Given the description of an element on the screen output the (x, y) to click on. 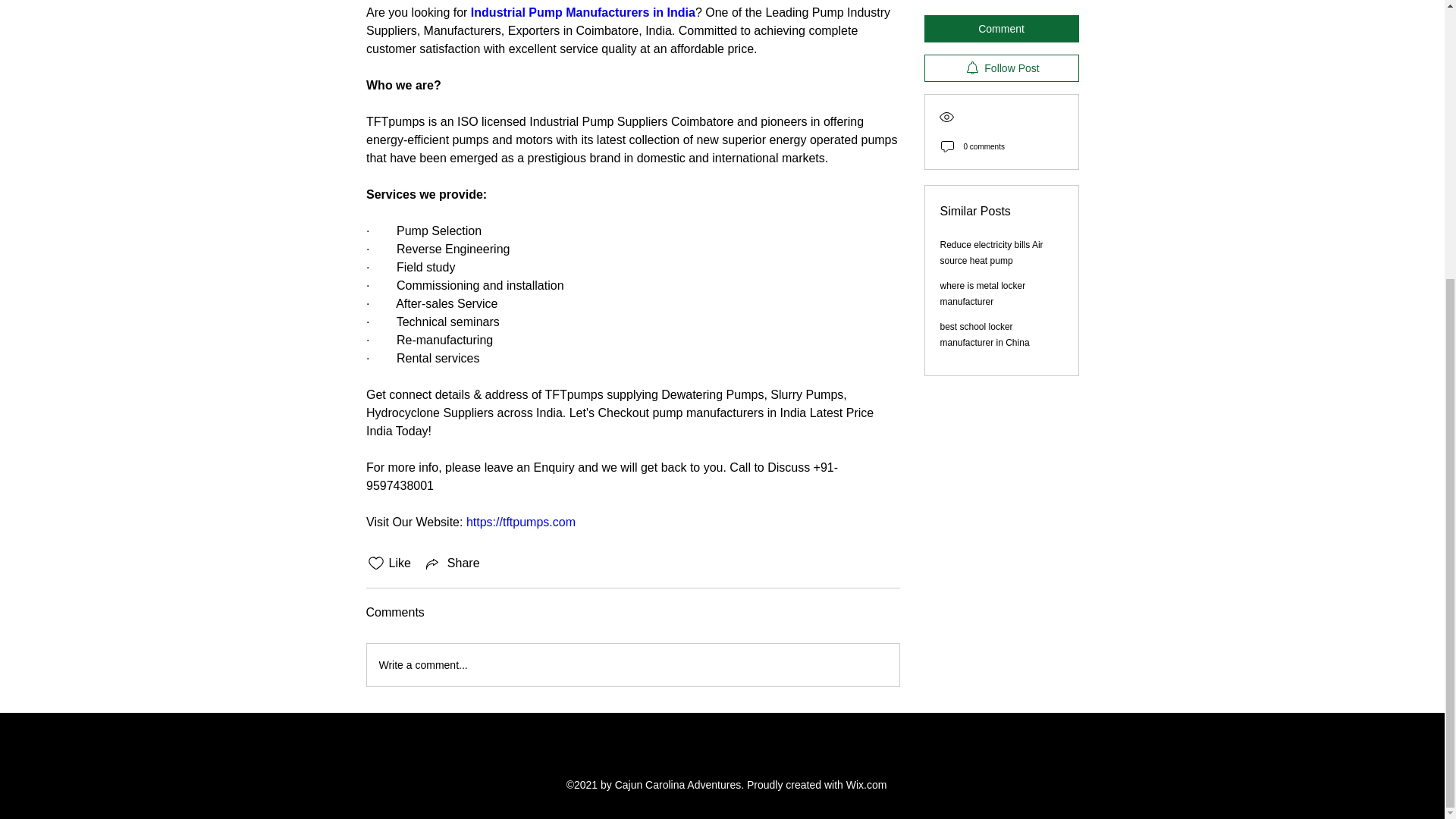
best school locker manufacturer in China (984, 216)
Write a comment... (632, 664)
Share (451, 563)
Industrial Pump Manufacturers in India (582, 11)
Reduce electricity bills Air source heat pump (991, 135)
where is metal locker manufacturer (983, 175)
